Given the description of an element on the screen output the (x, y) to click on. 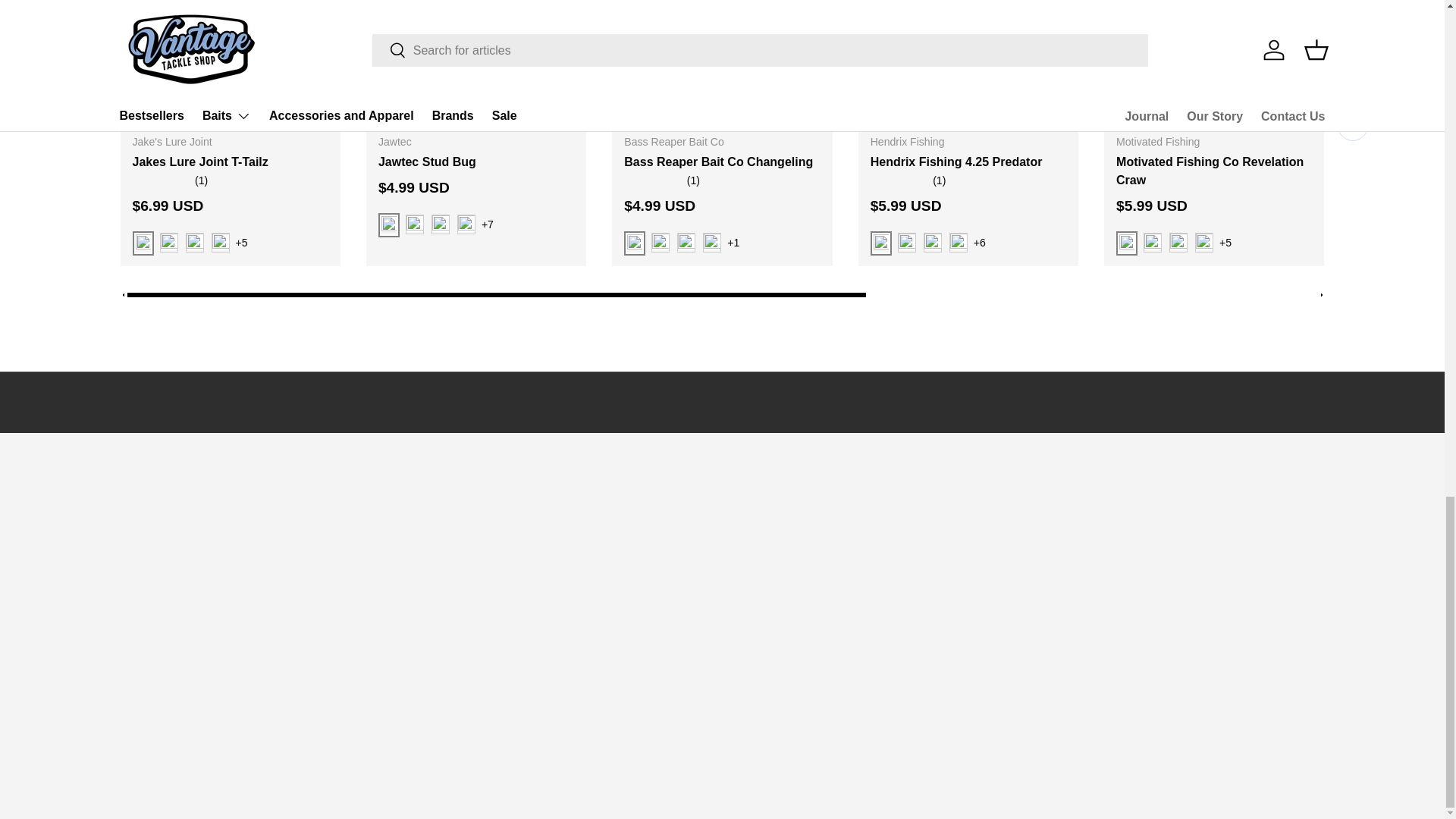
Watermelon Red Flake (686, 242)
Rusty Heat (932, 242)
Green Pumpkin (219, 242)
Old Purple (711, 242)
